Given the description of an element on the screen output the (x, y) to click on. 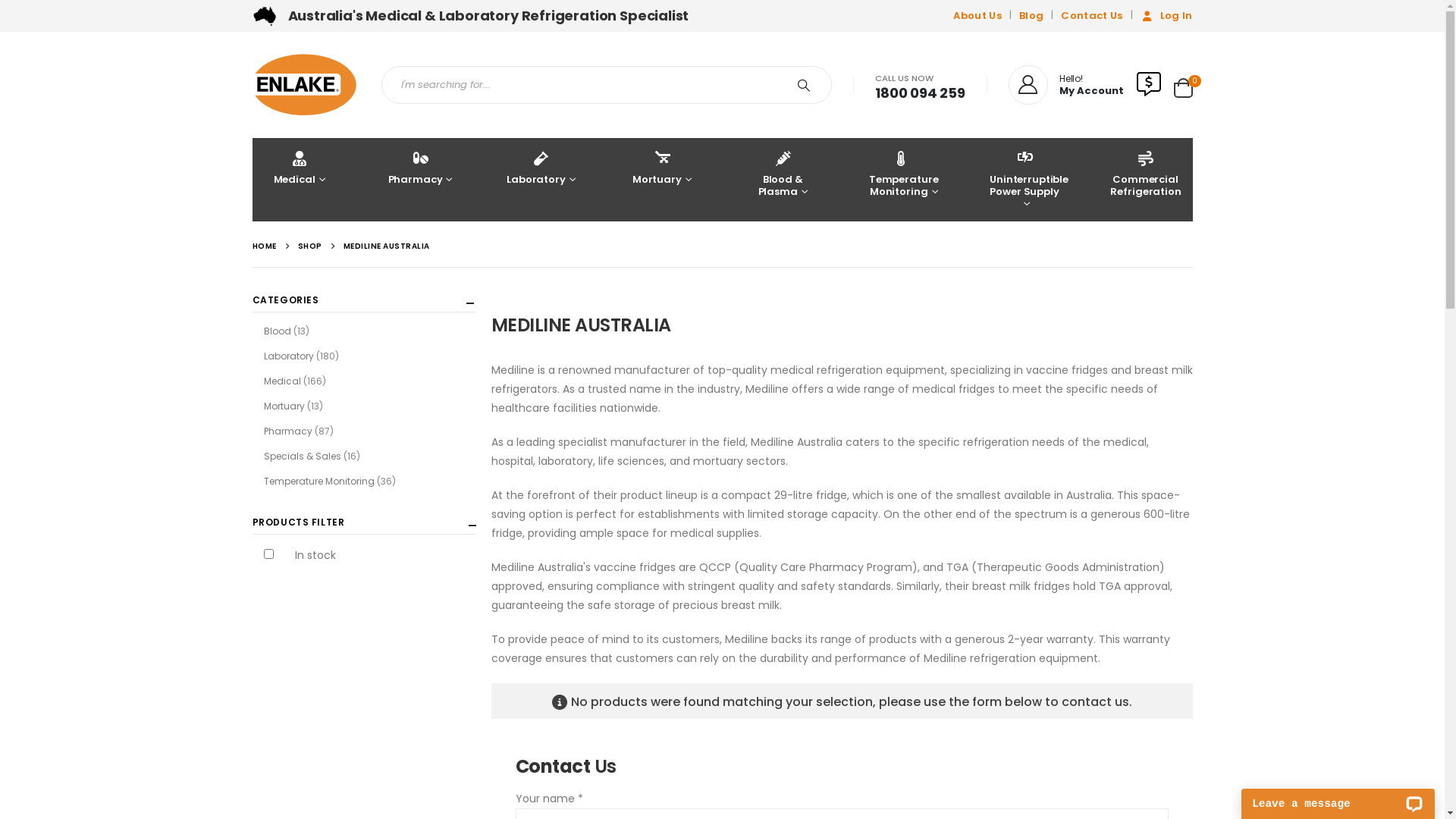
HOME Element type: text (263, 245)
Laboratory Element type: text (540, 179)
Mortuary Element type: text (662, 179)
Blood & Plasma Element type: text (782, 179)
SHOP Element type: text (309, 245)
Search Element type: hover (806, 84)
Temperature Monitoring Element type: text (903, 179)
Commercial Refrigeration Element type: text (1145, 179)
Hello!
My Account Element type: text (1065, 84)
Medical Element type: text (282, 380)
Temperature Monitoring Element type: text (318, 480)
Request a Quote Element type: hover (1148, 84)
Pharmacy Element type: text (287, 430)
Blood Element type: text (277, 330)
Medical Element type: text (298, 179)
Blog Element type: text (1031, 15)
1800 094 259 Element type: text (920, 92)
Log In Element type: text (1164, 15)
Mortuary Element type: text (283, 405)
About Us Element type: text (979, 15)
Pharmacy Element type: text (420, 179)
Uninterruptible Power Supply Element type: text (1024, 179)
Laboratory Element type: text (288, 355)
Contact Us Element type: text (1091, 15)
Specials & Sales Element type: text (302, 455)
